Given the description of an element on the screen output the (x, y) to click on. 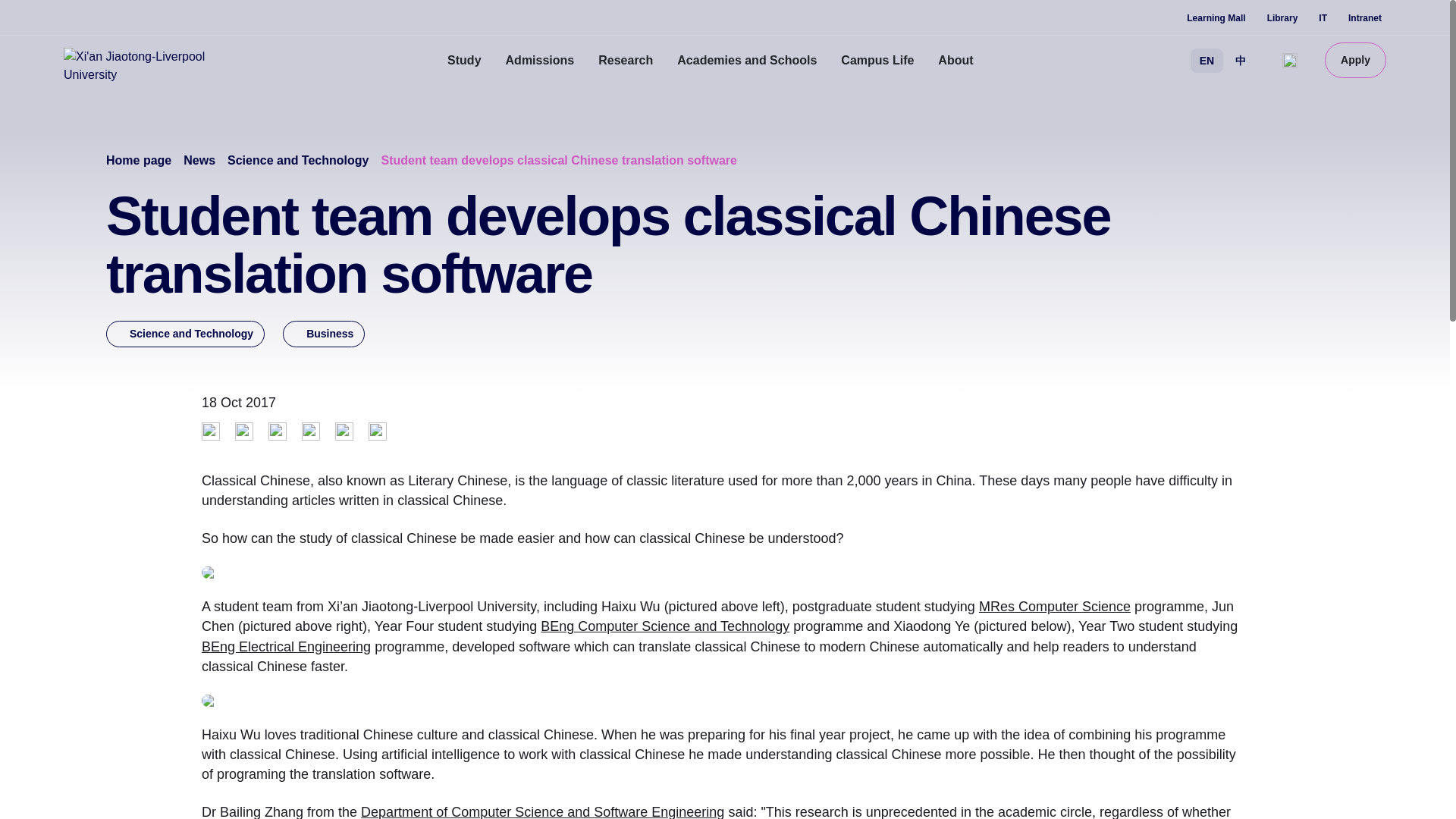
Admissions (539, 60)
Study (464, 60)
Library (1282, 18)
Intranet (1364, 18)
Learning Mall (1215, 18)
